Given the description of an element on the screen output the (x, y) to click on. 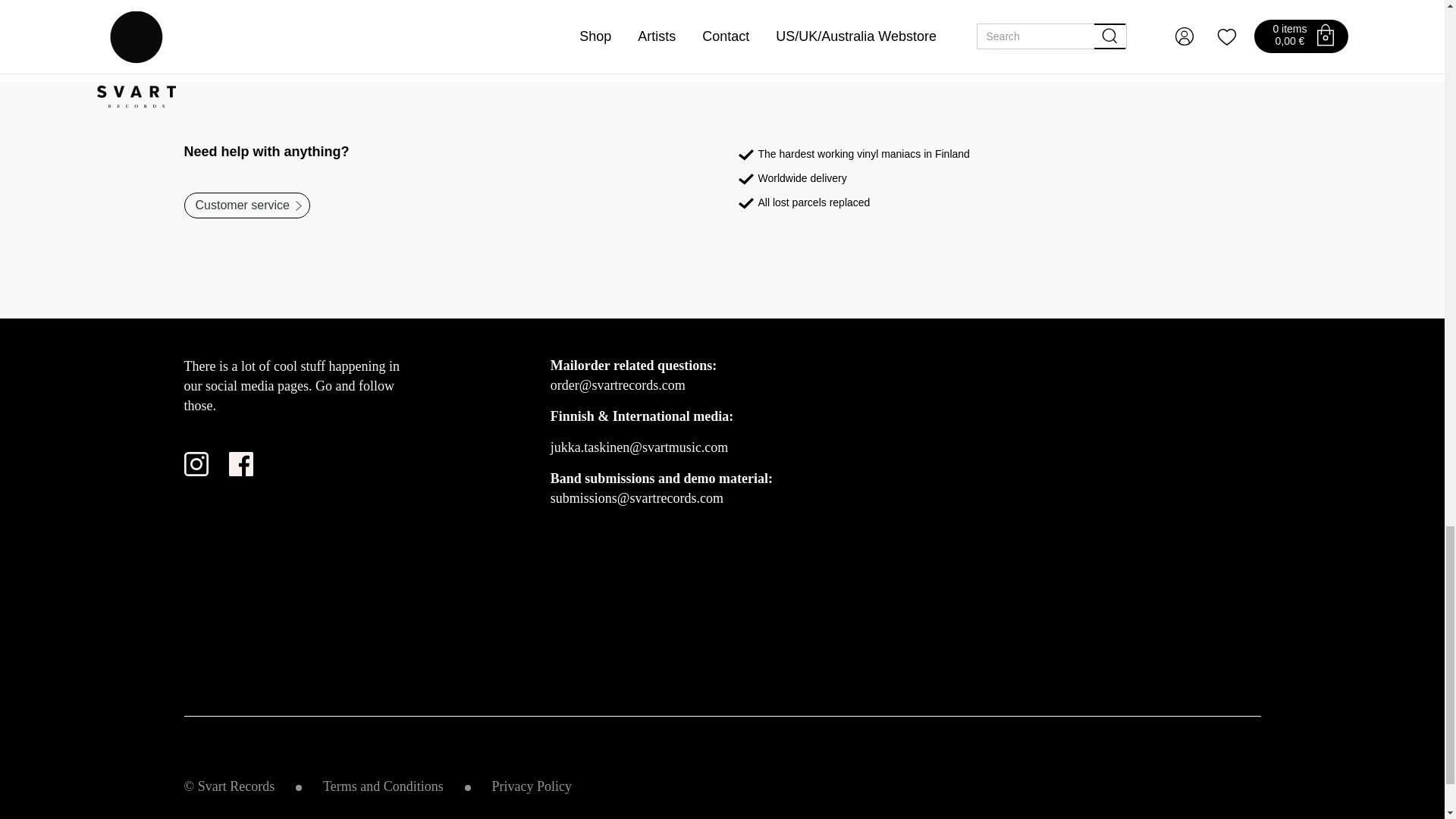
check (745, 154)
check (745, 202)
check (745, 178)
next (298, 205)
